Given the description of an element on the screen output the (x, y) to click on. 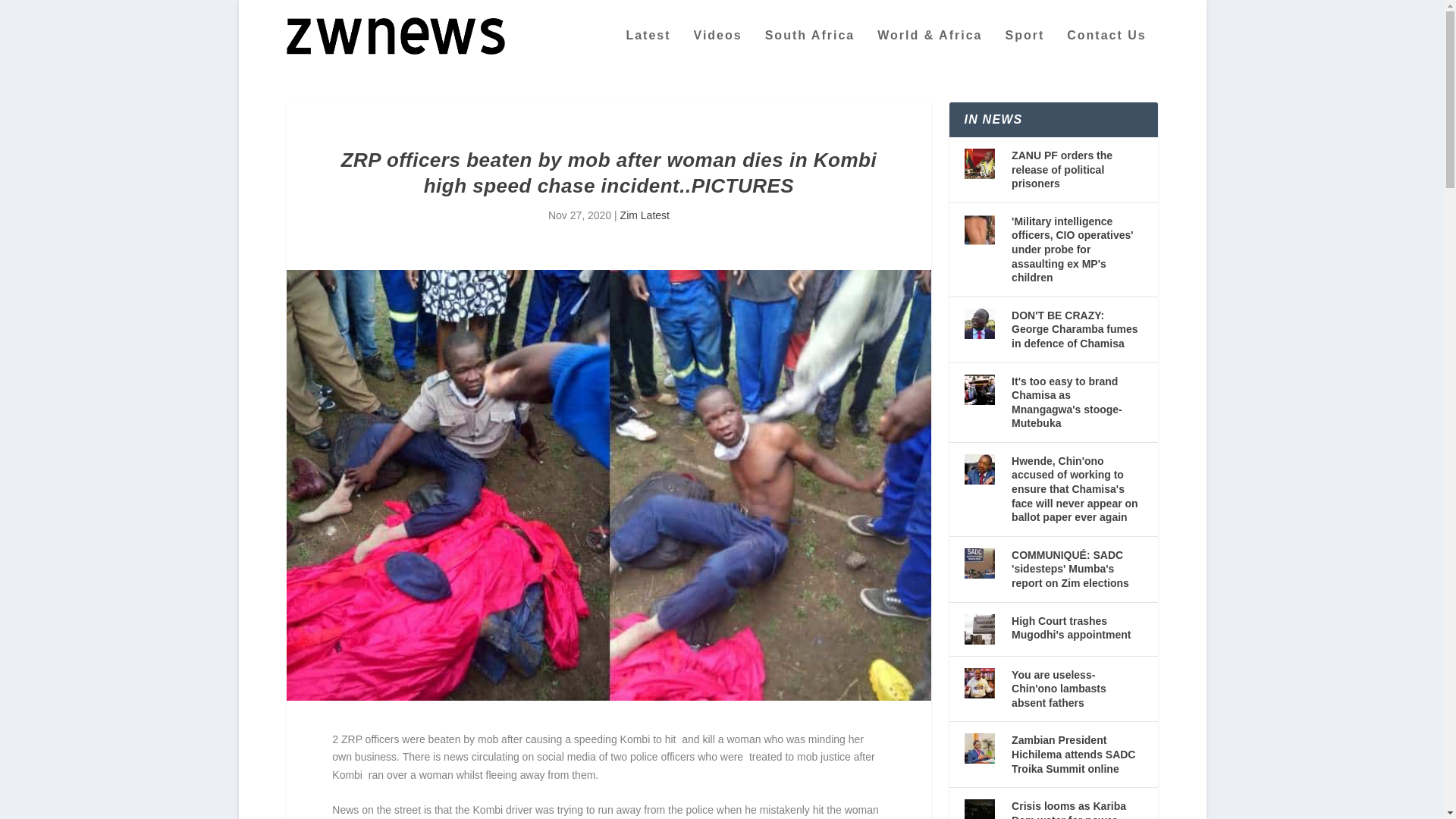
Latest (647, 50)
Zim Latest (644, 215)
South Africa (810, 50)
Videos (718, 50)
